Given the description of an element on the screen output the (x, y) to click on. 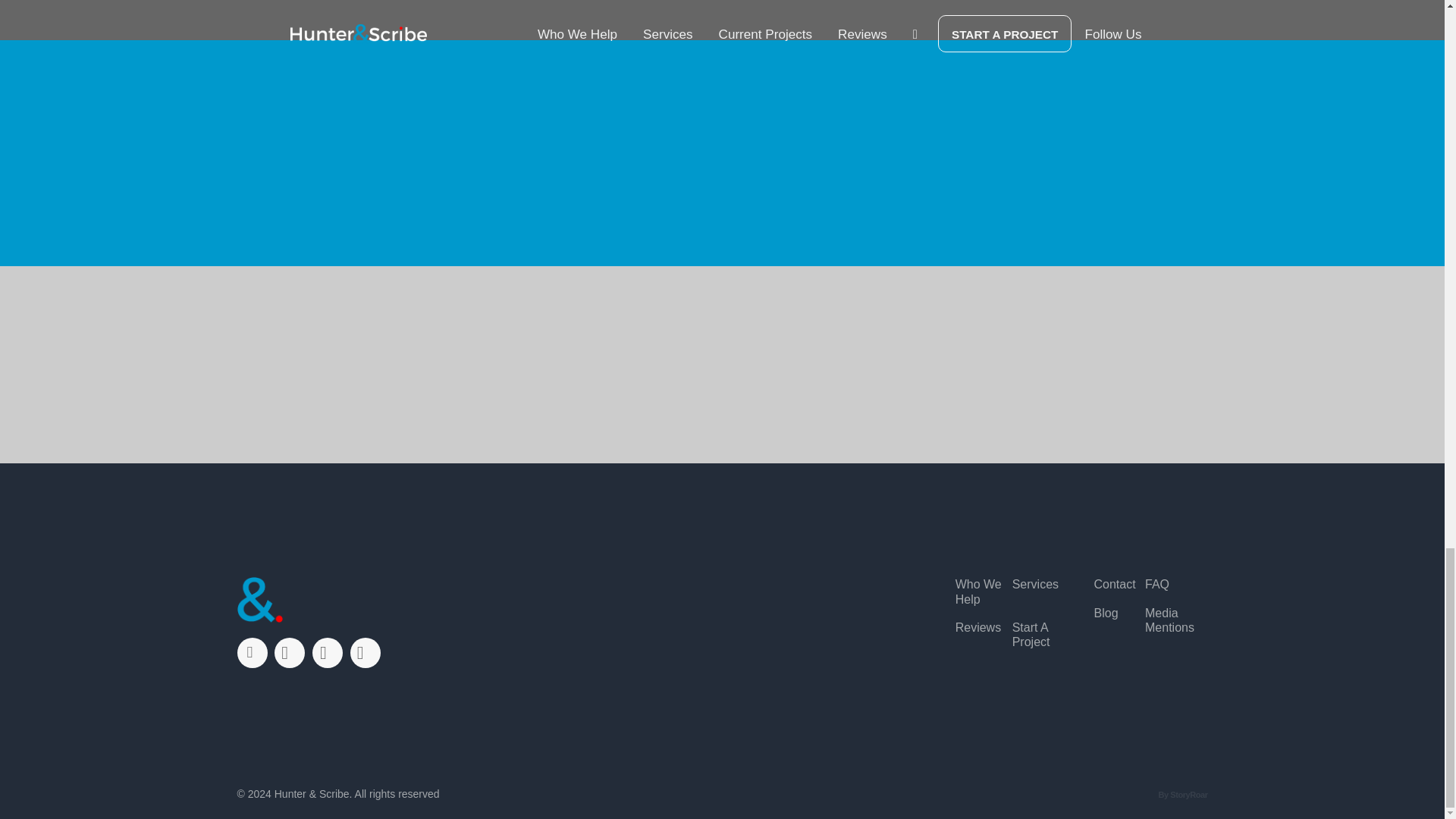
Start A Project (1039, 634)
FAQ (1156, 584)
By StoryRoar (1182, 794)
Blog (1105, 612)
Reviews (978, 626)
Media Mentions (1170, 620)
Who We Help (983, 591)
Services (1034, 584)
Contact (1114, 584)
